Given the description of an element on the screen output the (x, y) to click on. 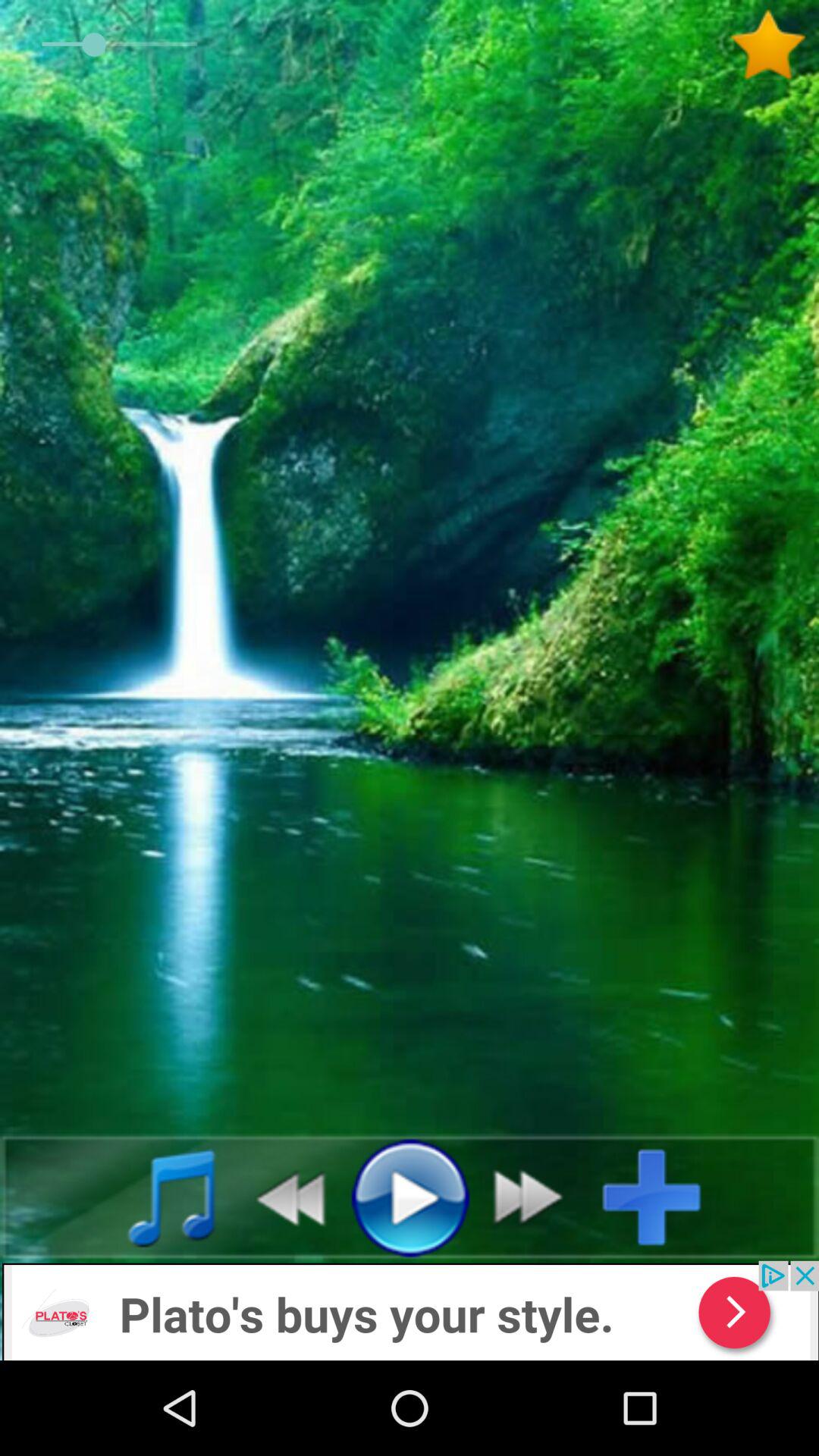
play the media (409, 1196)
